Given the description of an element on the screen output the (x, y) to click on. 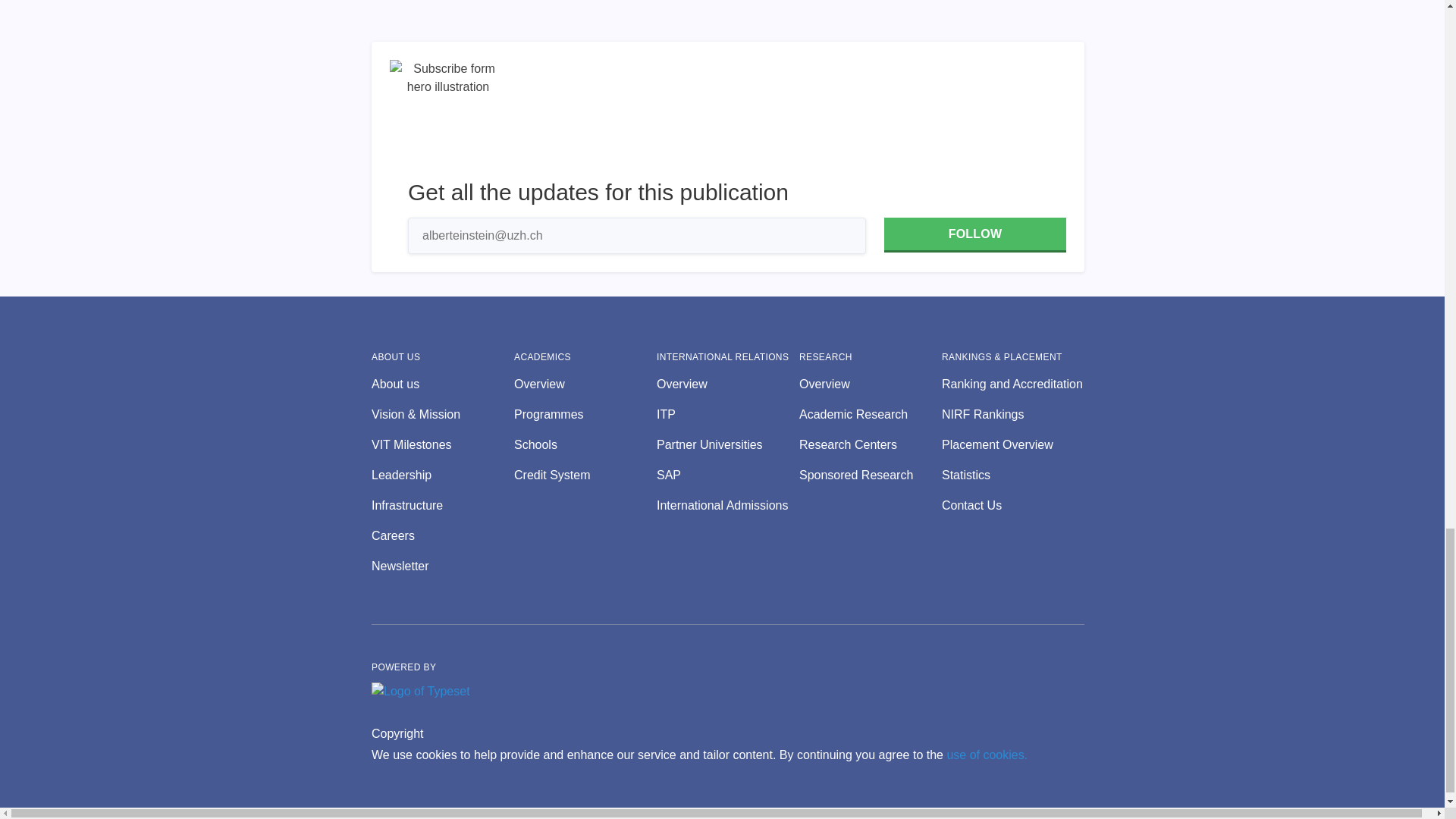
FOLLOW (974, 234)
International Admissions (727, 505)
ITP (727, 414)
Schools (584, 444)
Leadership (442, 475)
SAP (727, 475)
Programmes (584, 414)
Subscribe form hero illustration (448, 117)
Infrastructure (442, 505)
About us (442, 384)
Credit System (584, 475)
Overview (727, 384)
Overview (584, 384)
Careers (442, 536)
VIT Milestones (442, 444)
